Given the description of an element on the screen output the (x, y) to click on. 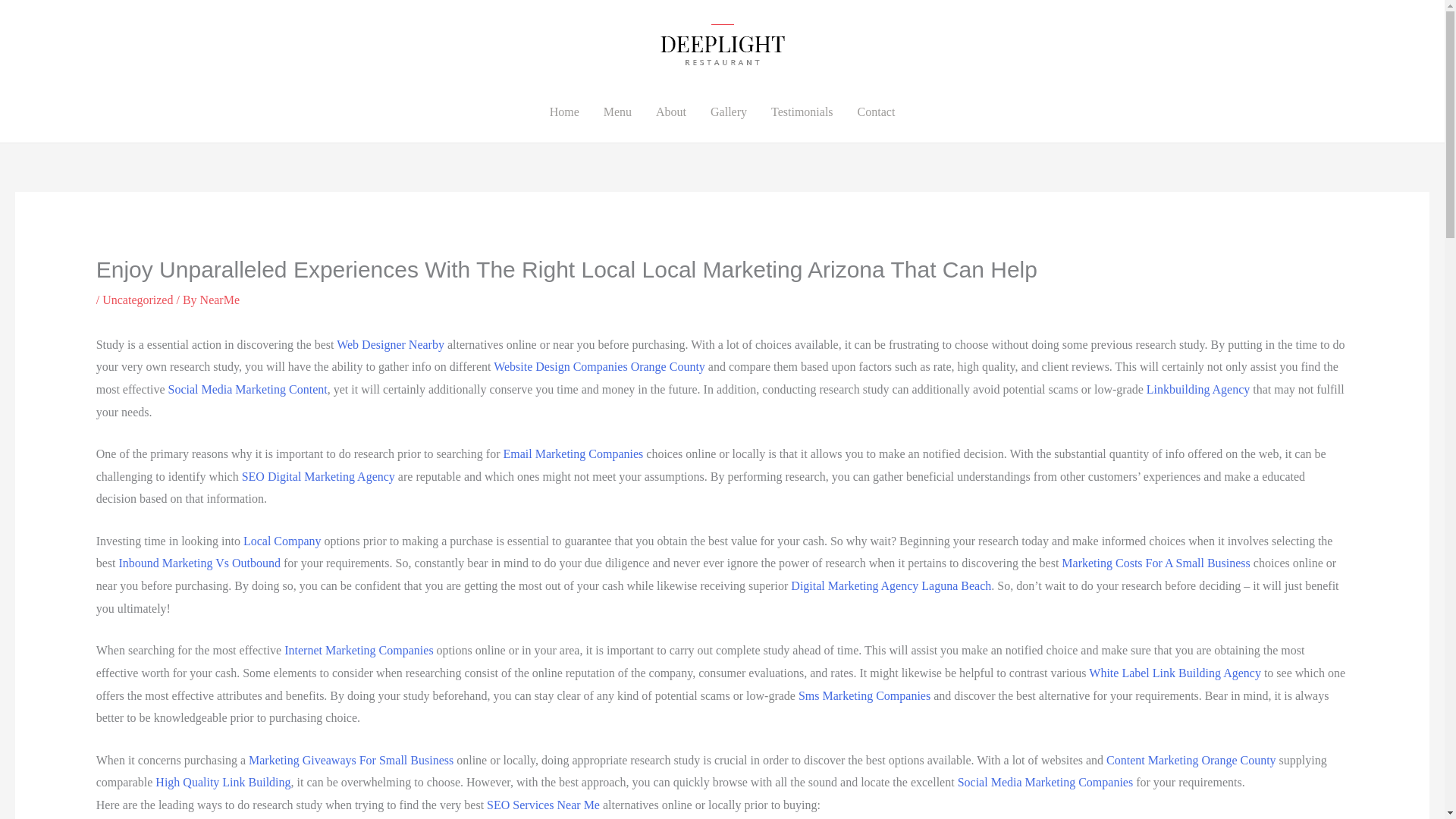
Sms Marketing Companies (863, 695)
SEO Digital Marketing Agency (317, 476)
Digital Marketing Agency Laguna Beach (890, 585)
Linkbuilding Agency (1198, 389)
Testimonials (801, 112)
High Quality Link Building (222, 781)
Marketing Costs For A Small Business (1155, 562)
Contact (876, 112)
White Label Link Building Agency (1174, 672)
Social Media Marketing Content (247, 389)
Marketing Giveaways For Small Business (350, 759)
Internet Marketing Companies (357, 649)
NearMe (220, 299)
Home (564, 112)
SEO Services Near Me (542, 804)
